Given the description of an element on the screen output the (x, y) to click on. 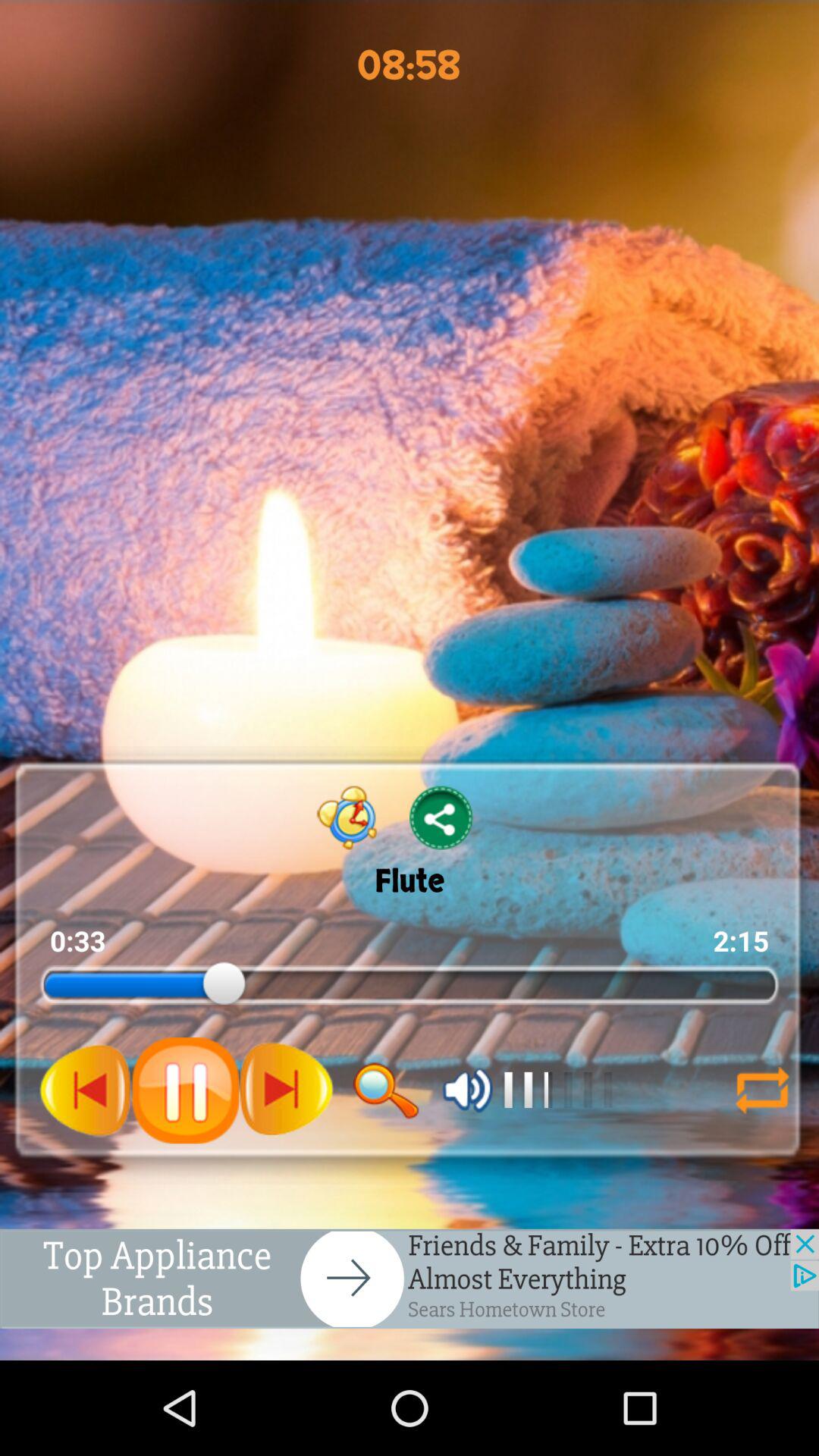
share (441, 817)
